Given the description of an element on the screen output the (x, y) to click on. 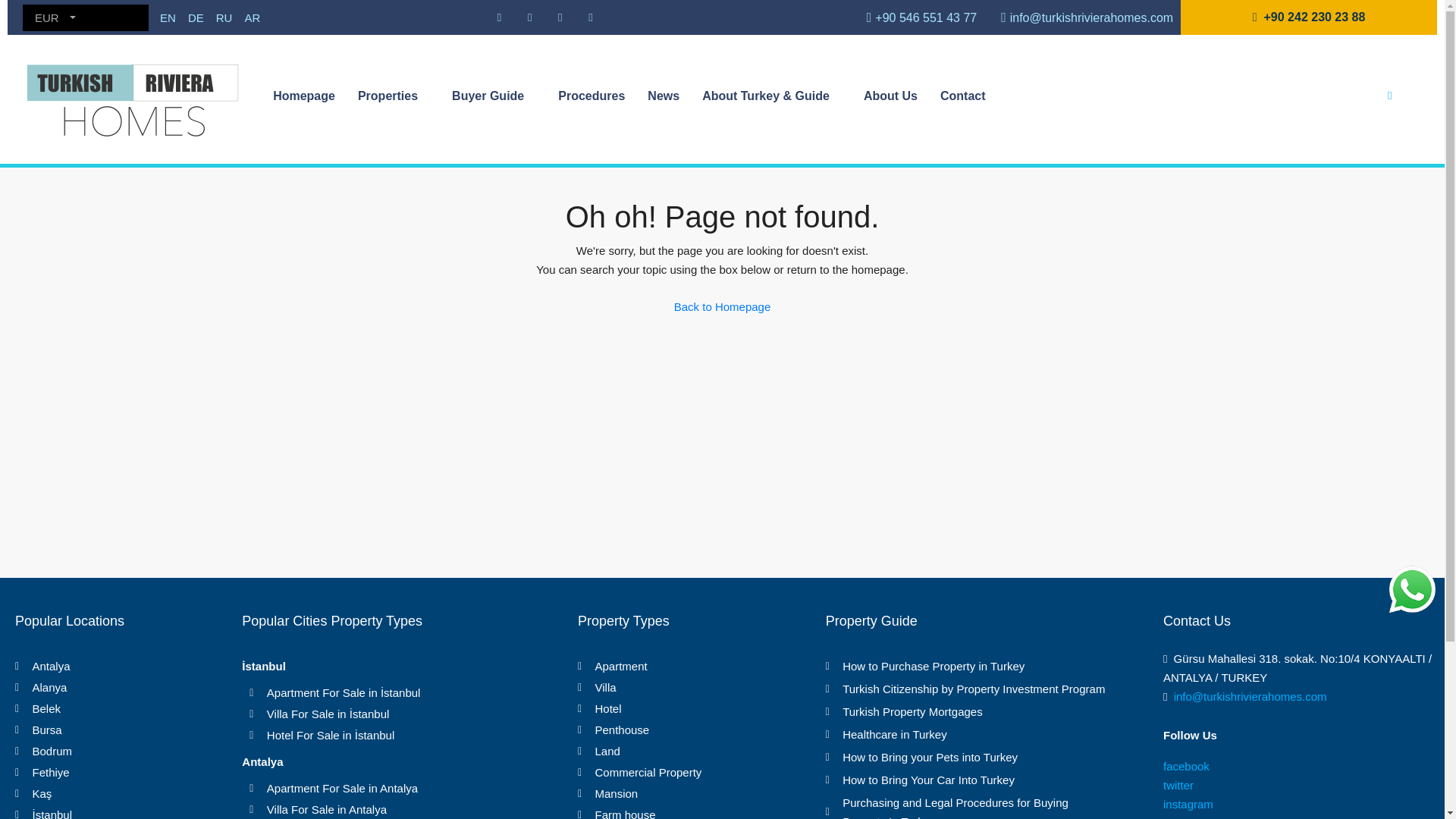
Properties (393, 95)
Homepage (304, 95)
Homepage (304, 95)
EUR (55, 17)
Property List (393, 95)
